Given the description of an element on the screen output the (x, y) to click on. 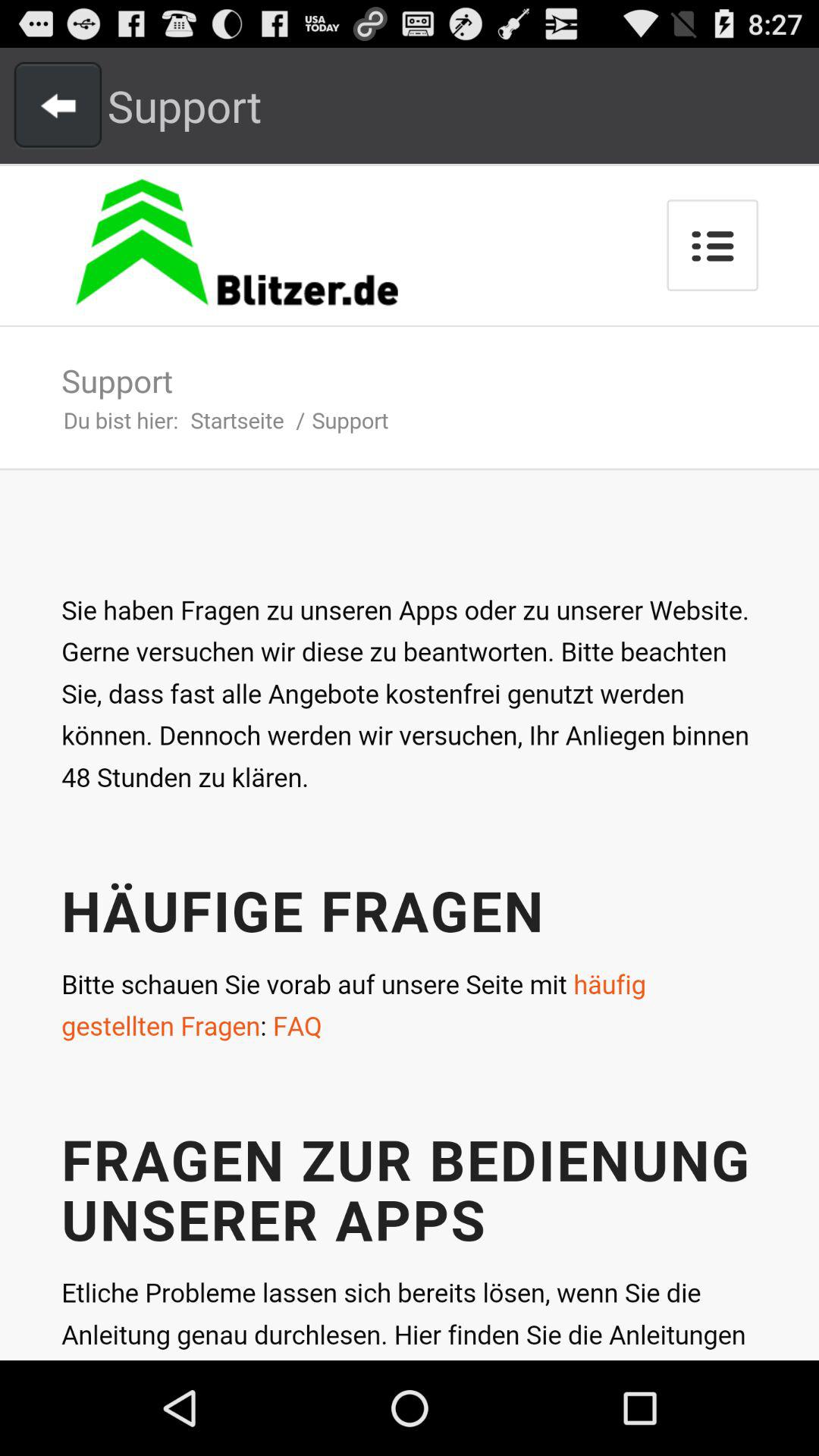
previous (57, 105)
